Given the description of an element on the screen output the (x, y) to click on. 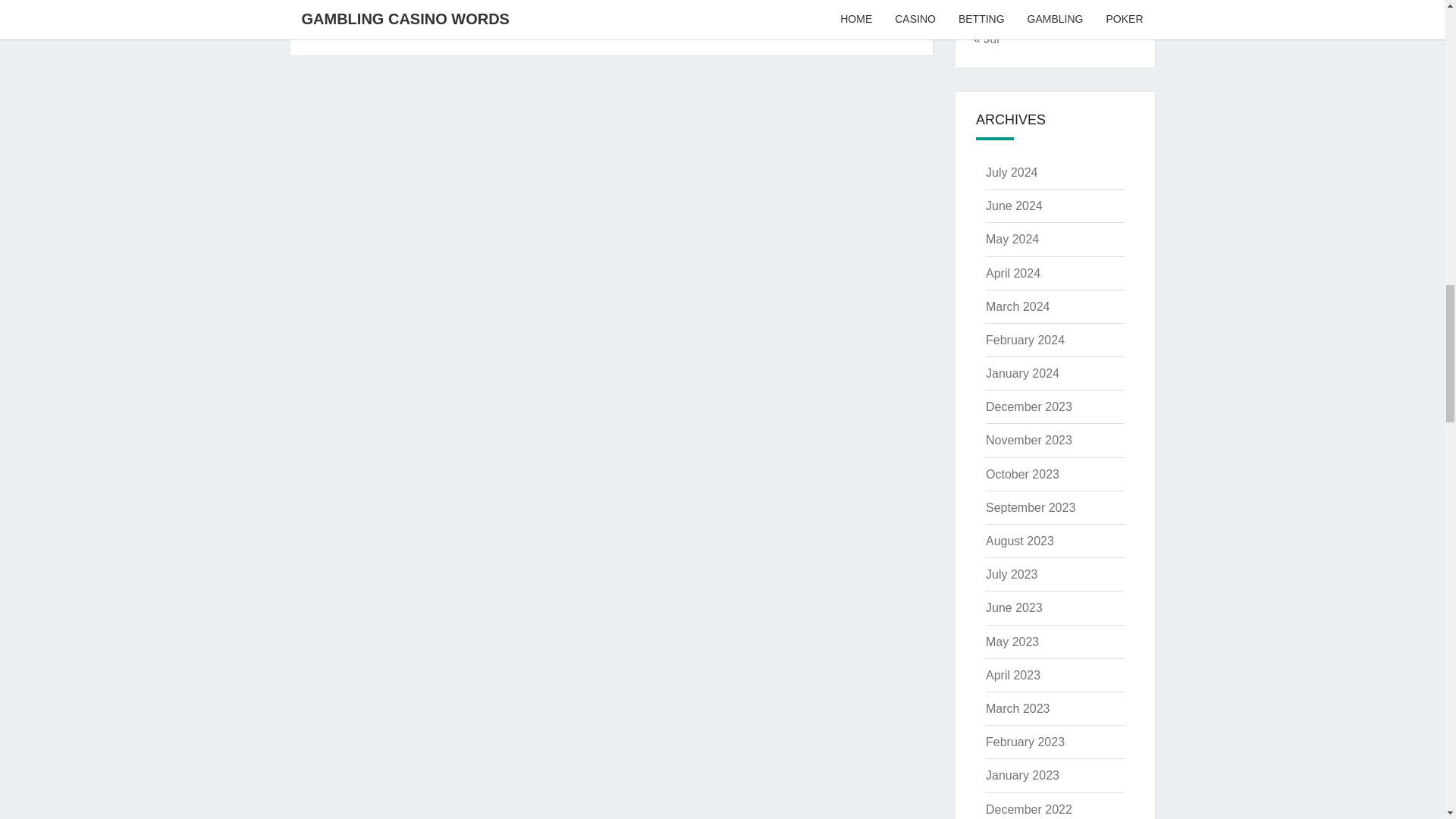
March 2023 (1017, 707)
July 2023 (1011, 574)
January 2023 (1022, 775)
February 2023 (1024, 741)
December 2023 (1028, 406)
May 2024 (1012, 238)
April 2024 (1013, 273)
June 2024 (1013, 205)
July 2024 (1011, 172)
September 2023 (1030, 507)
August 2023 (1019, 540)
June 2023 (1013, 607)
November 2023 (1028, 440)
May 2023 (1012, 641)
February 2024 (1024, 339)
